Given the description of an element on the screen output the (x, y) to click on. 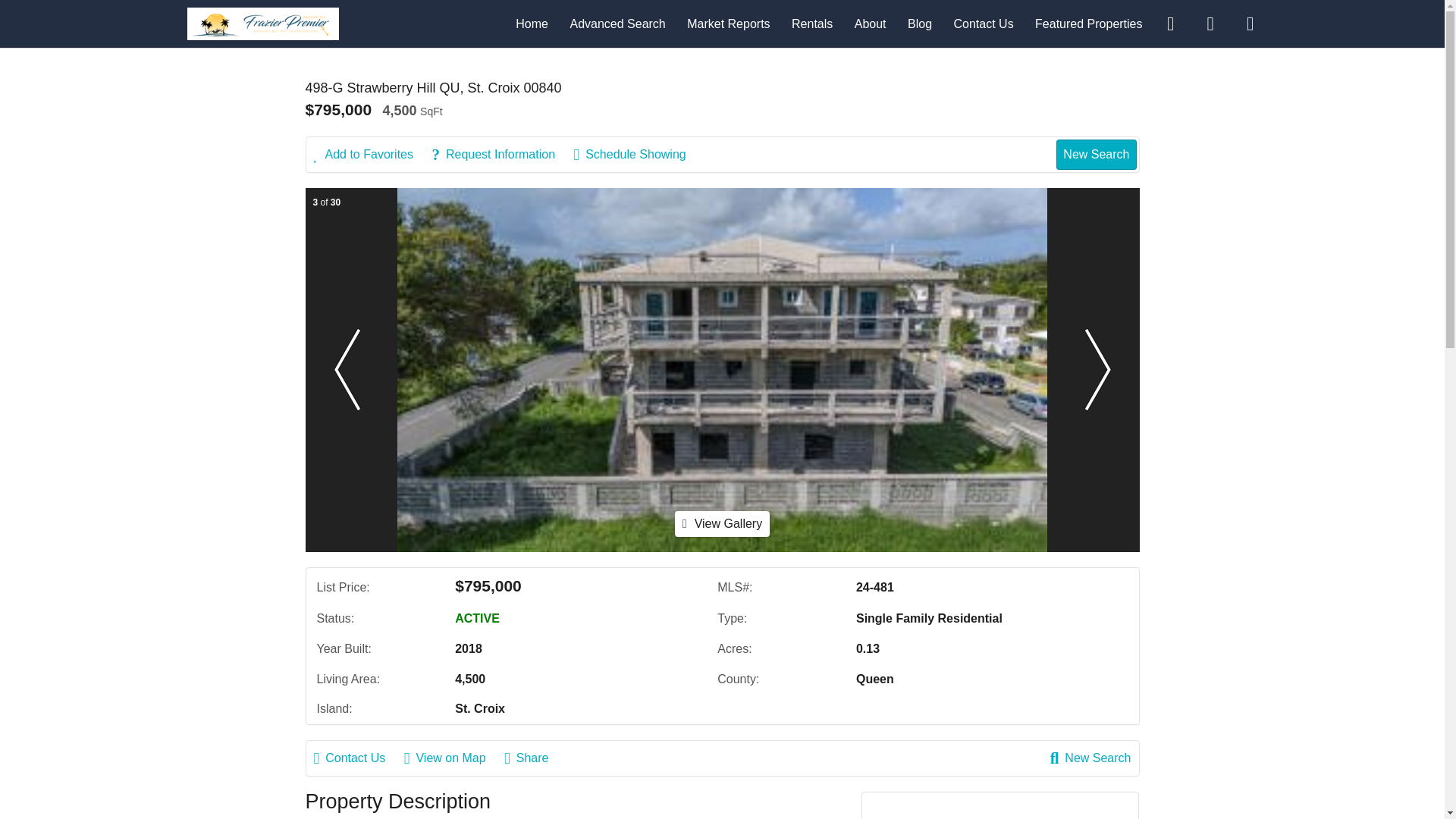
Rentals (812, 23)
Contact Us (357, 757)
View on Map (452, 757)
View Gallery (722, 522)
Add to Favorites (371, 154)
Contact Us (983, 23)
Advanced Search (617, 23)
New Search (1090, 757)
Share (533, 757)
Contact by Phone (1209, 22)
Market Reports (728, 23)
Open contact form (1170, 22)
Login or Signup (1249, 22)
View Gallery (722, 524)
Home (531, 23)
